Given the description of an element on the screen output the (x, y) to click on. 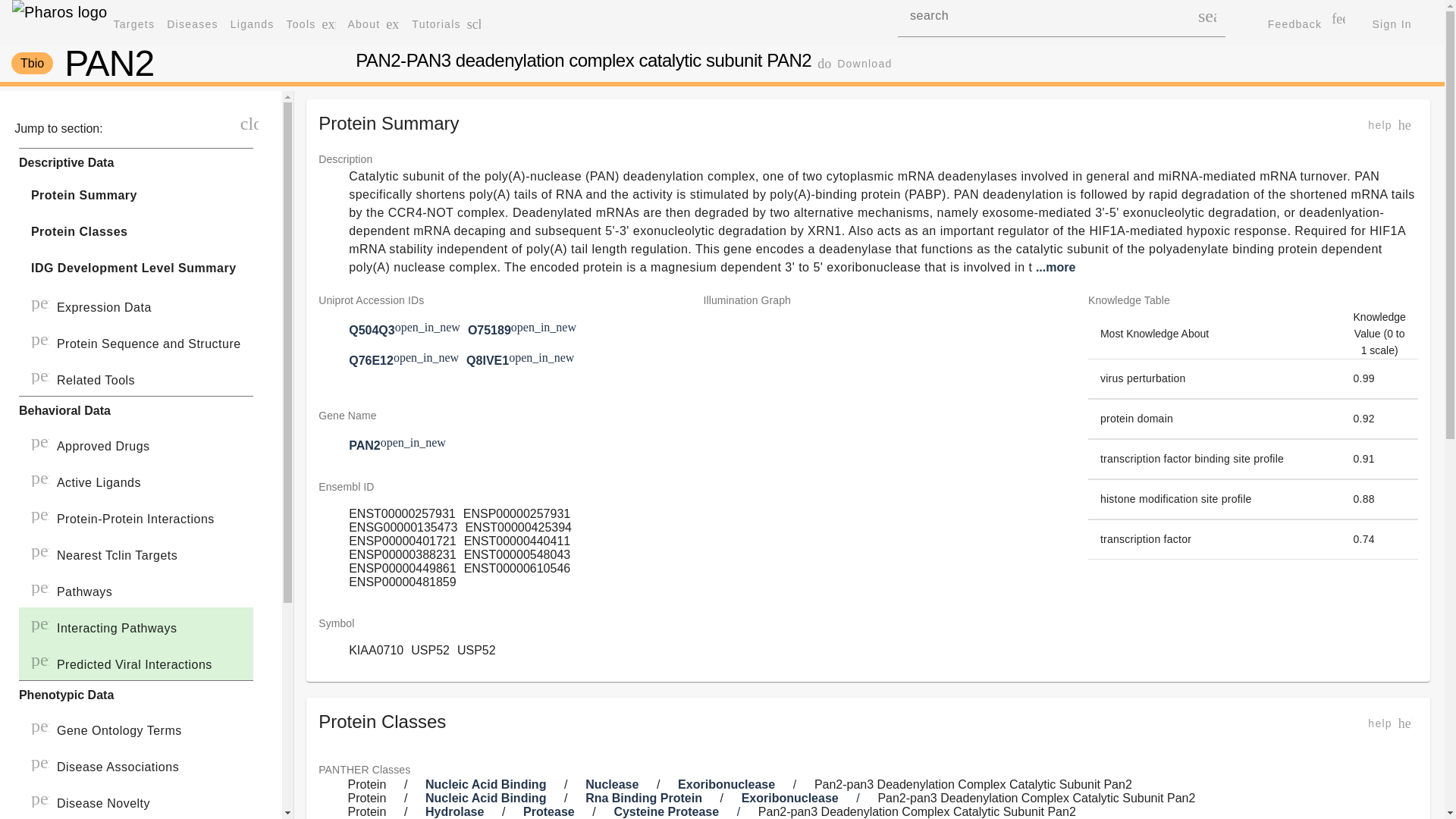
Protein Summary (135, 195)
Targets (134, 23)
pendingApproved Drugs (446, 23)
pendingNearest Tclin Targets (135, 443)
Sign In (135, 552)
Feedback feedback (1390, 23)
pendingDisease Associations (1307, 23)
pendingInteracting Pathways (135, 764)
search (135, 625)
